Given the description of an element on the screen output the (x, y) to click on. 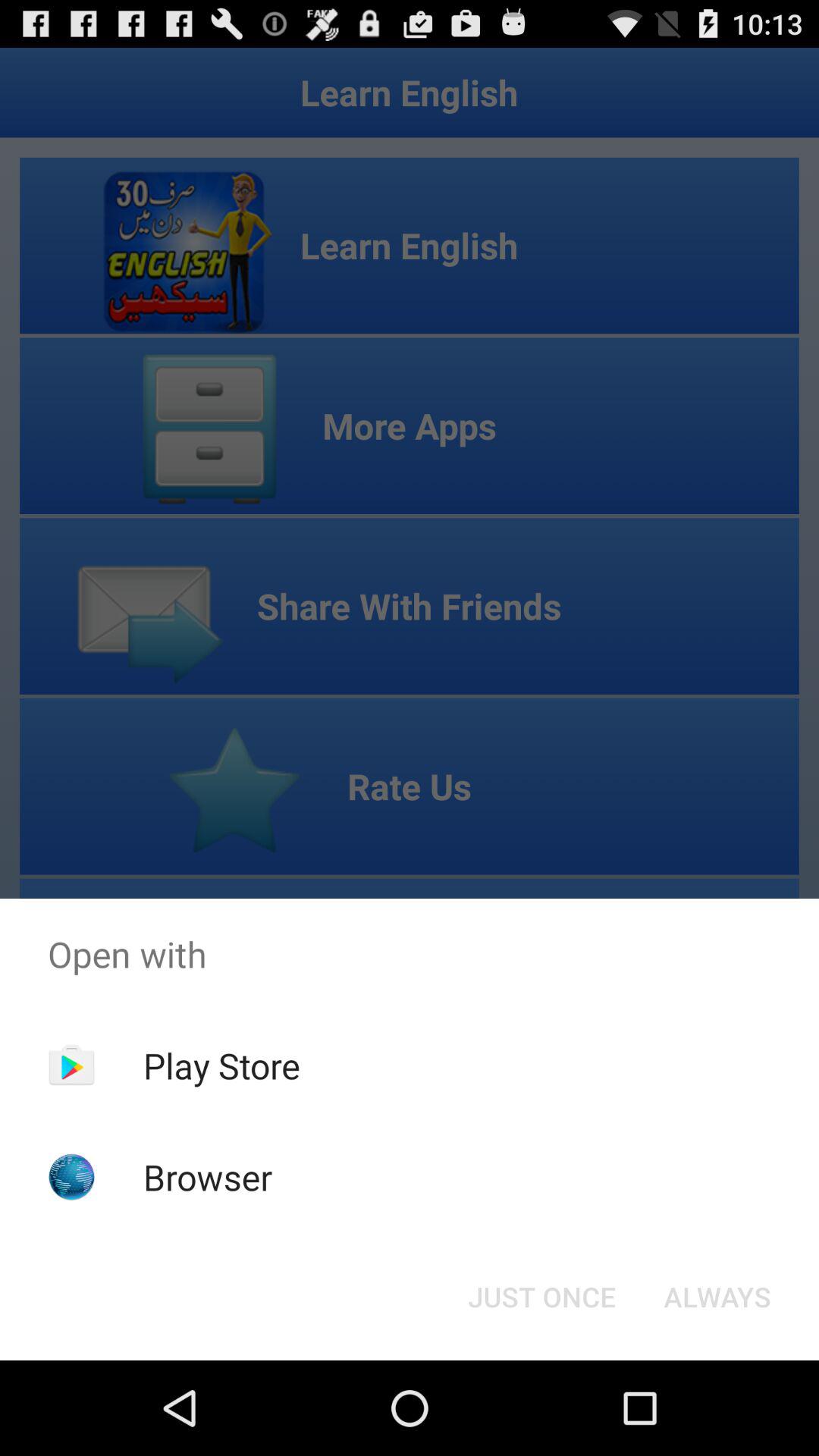
open the item below open with item (221, 1065)
